Given the description of an element on the screen output the (x, y) to click on. 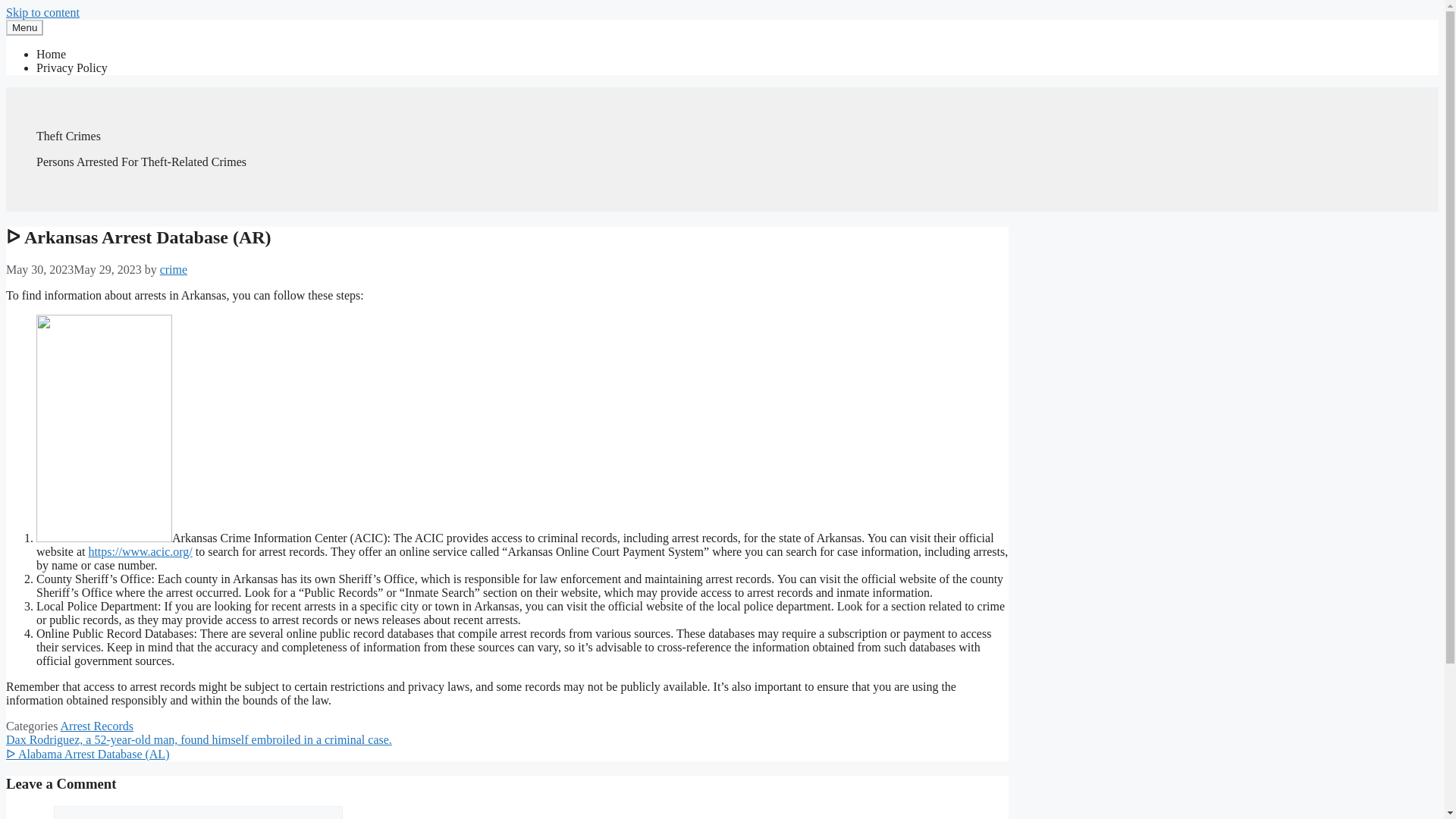
Home (50, 53)
Theft Crimes (68, 135)
Privacy Policy (71, 67)
Skip to content (42, 11)
View all posts by crime (173, 269)
Arrest Records (97, 725)
crime (173, 269)
Menu (24, 27)
Skip to content (42, 11)
